Given the description of an element on the screen output the (x, y) to click on. 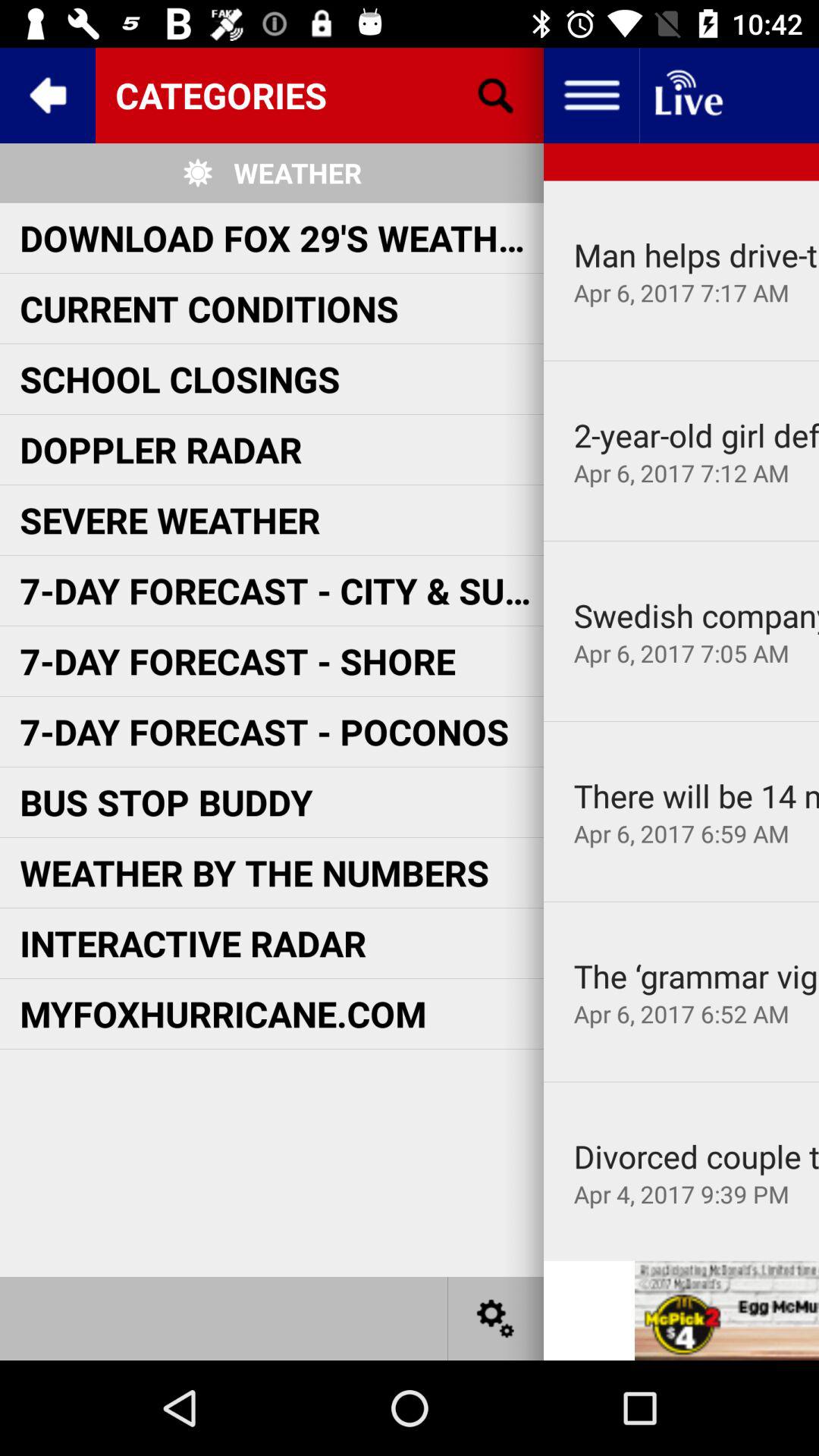
select the 2 year old item (696, 434)
